Given the description of an element on the screen output the (x, y) to click on. 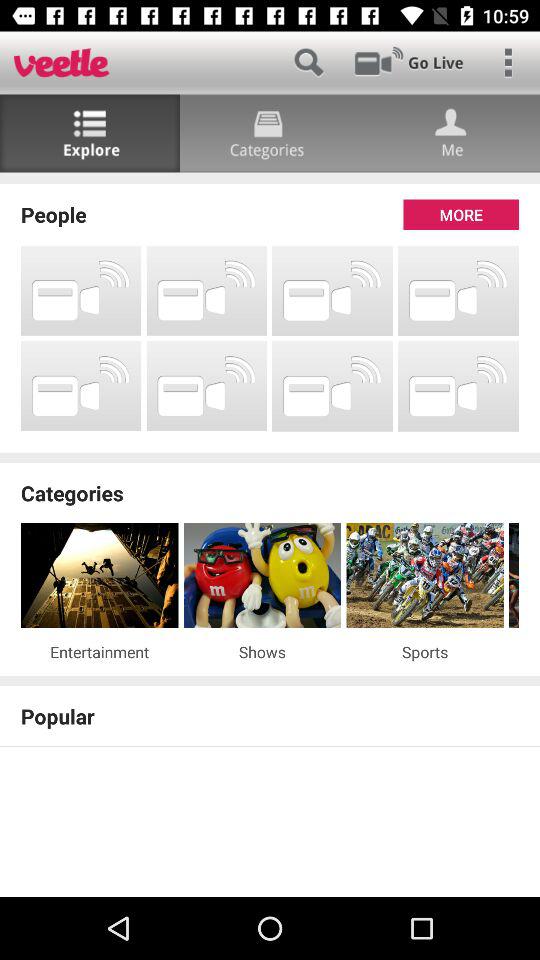
search videos (308, 62)
